Given the description of an element on the screen output the (x, y) to click on. 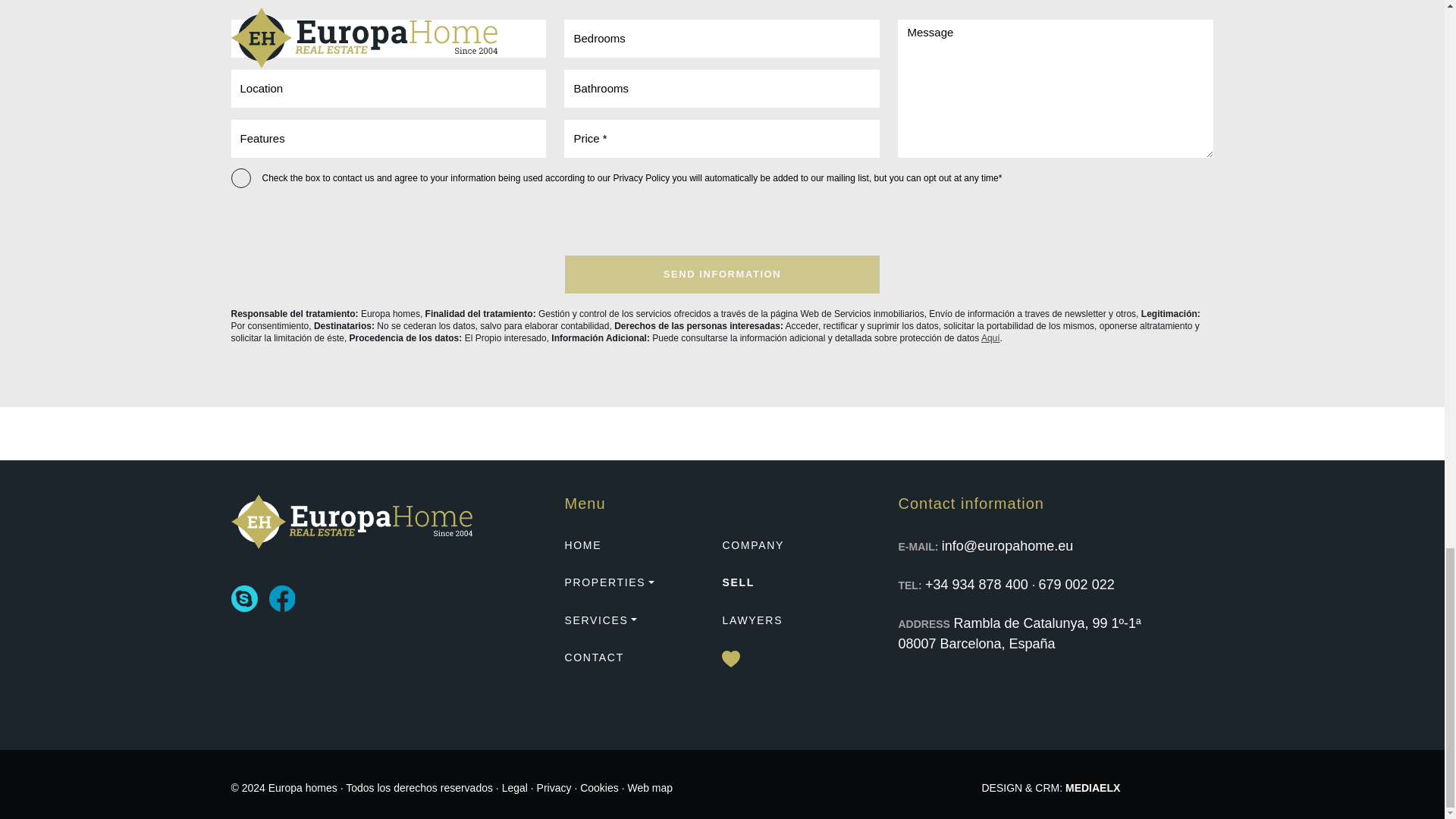
Europa homes (350, 521)
